Given the description of an element on the screen output the (x, y) to click on. 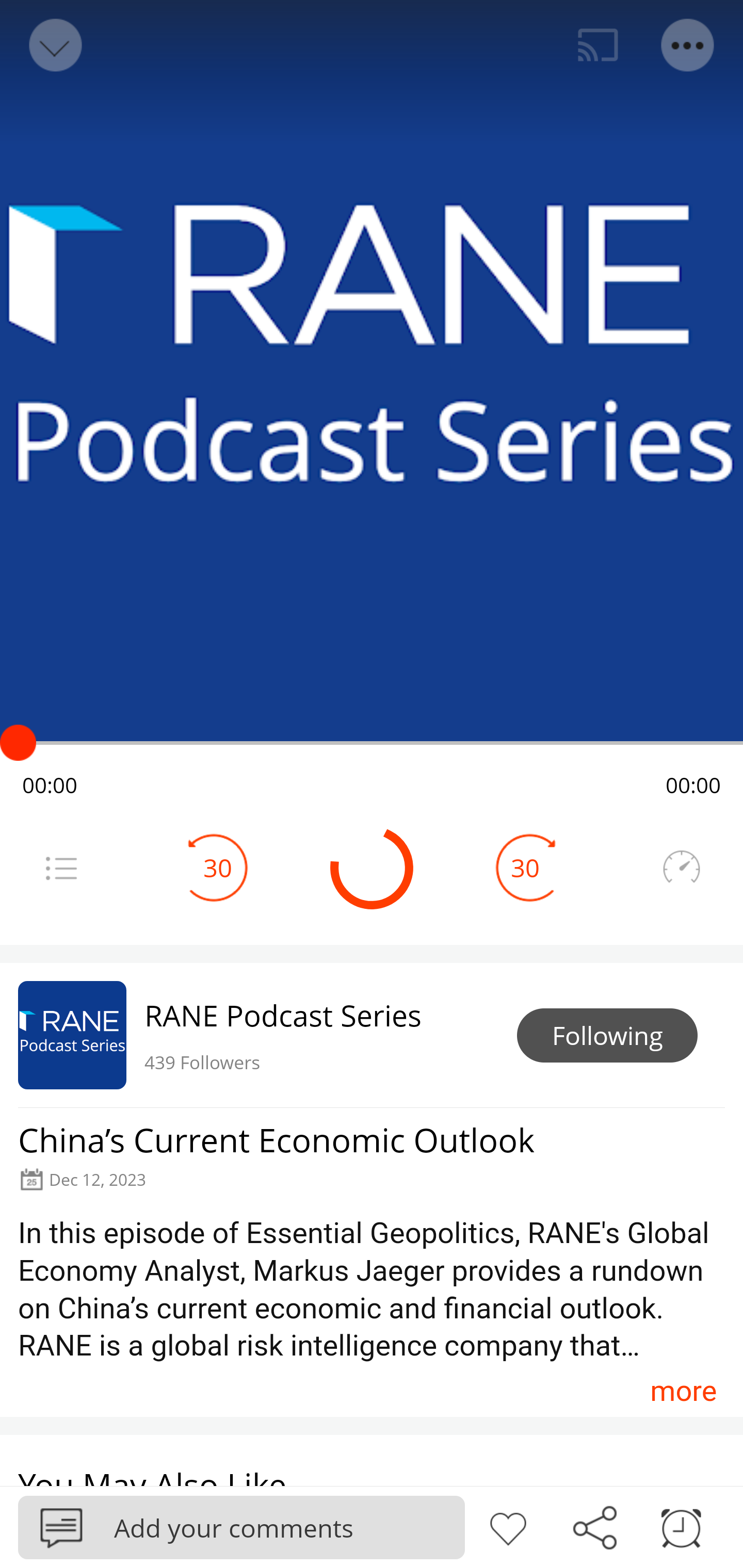
Back (53, 45)
Cast. Disconnected (597, 45)
Menu (688, 45)
30 Seek Backward (217, 867)
30 Seek Forward (525, 867)
Menu (60, 867)
Speedometer (681, 867)
RANE Podcast Series 439 Followers Following (371, 1034)
Following (607, 1035)
more (682, 1390)
Like (508, 1526)
Share (594, 1526)
Sleep timer (681, 1526)
Podbean Add your comments (241, 1526)
